Given the description of an element on the screen output the (x, y) to click on. 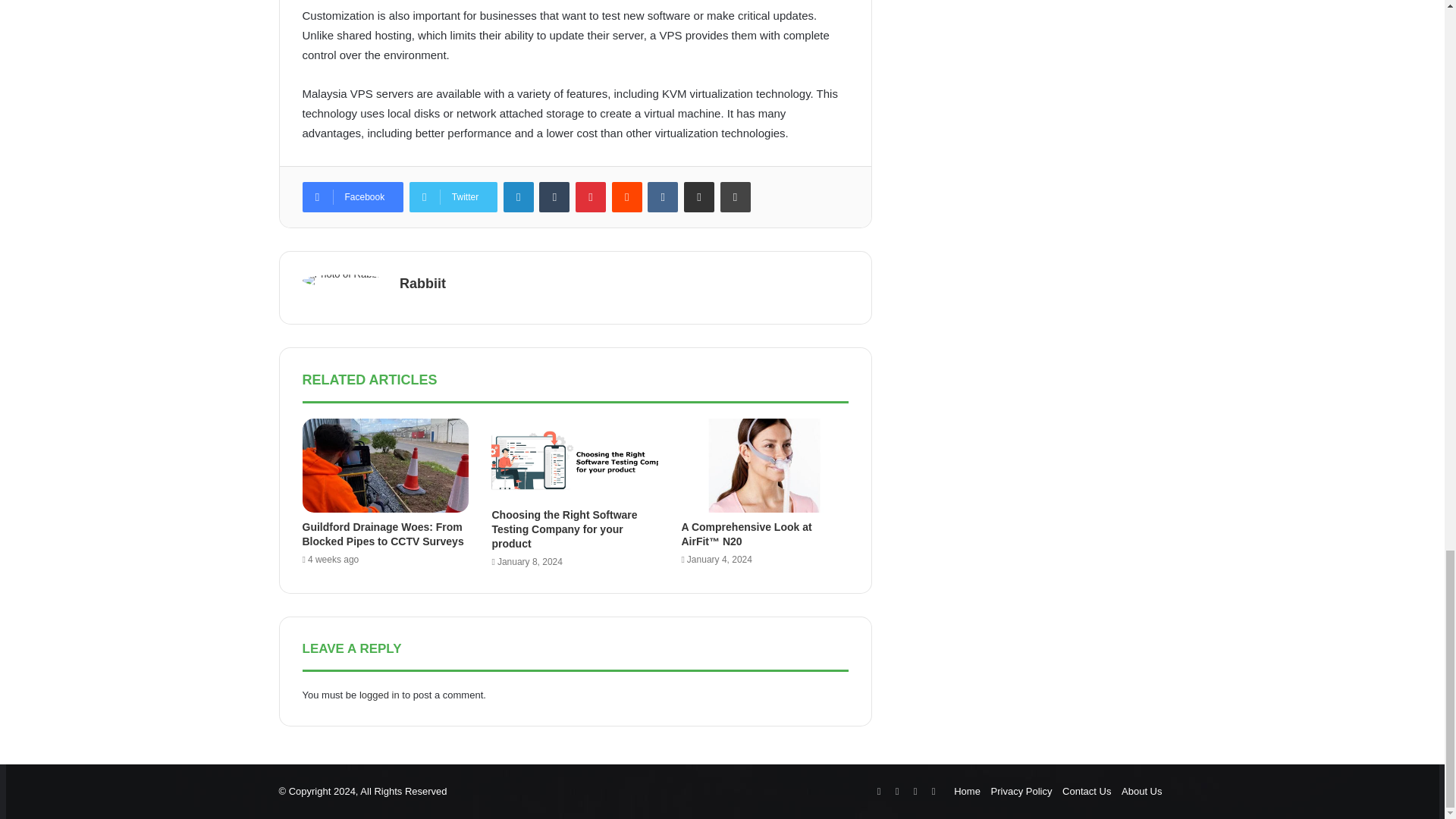
Twitter (453, 196)
Pinterest (590, 196)
Facebook (352, 196)
LinkedIn (518, 196)
Share via Email (699, 196)
Pinterest (590, 196)
LinkedIn (518, 196)
Tumblr (553, 196)
Share via Email (699, 196)
Guildford Drainage Woes: From Blocked Pipes to CCTV Surveys (382, 533)
